Given the description of an element on the screen output the (x, y) to click on. 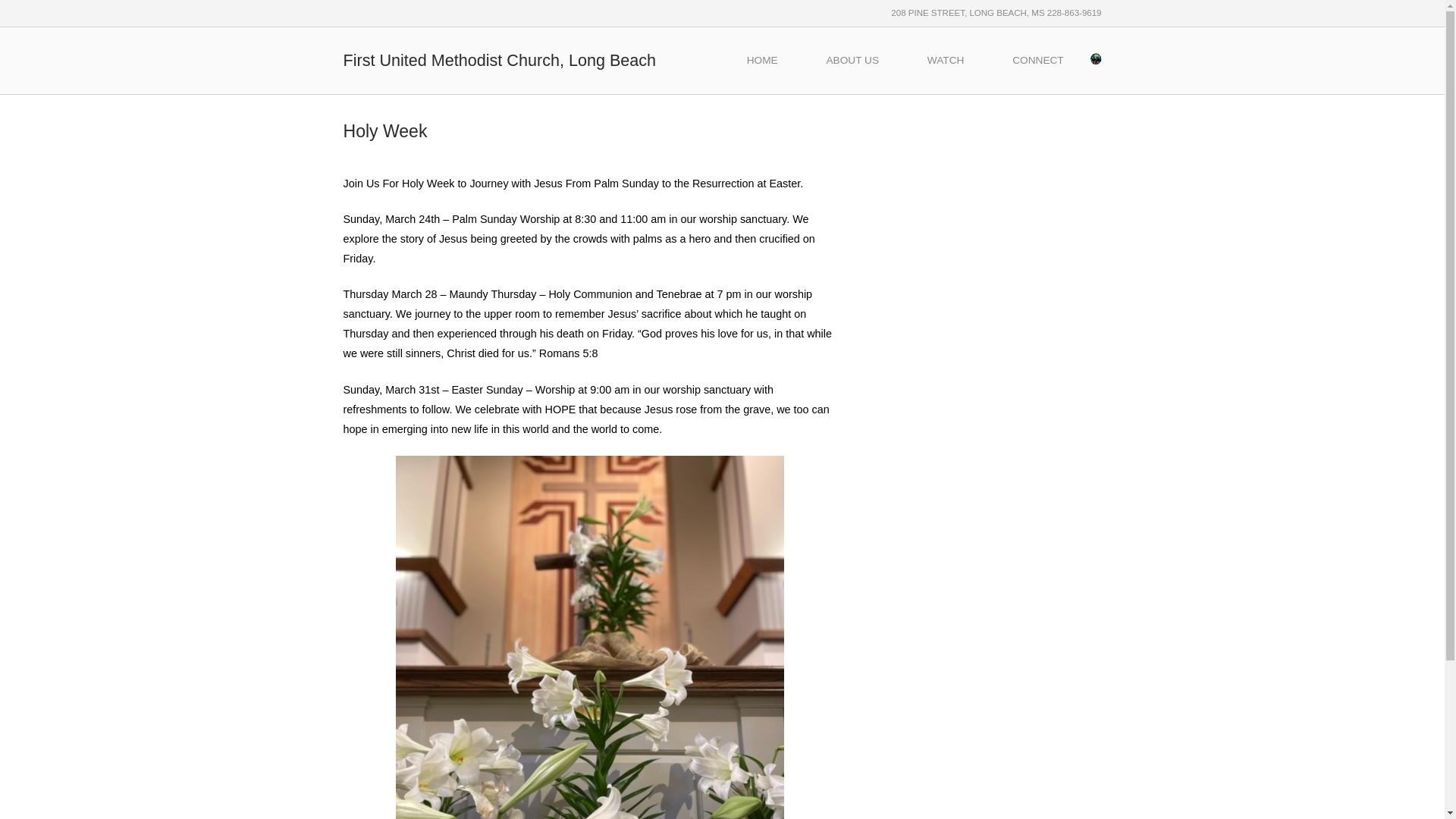
First United Methodist Church, Long Beach (499, 59)
WATCH (945, 60)
ABOUT US (852, 60)
CONNECT (1038, 60)
HOME (761, 60)
